Given the description of an element on the screen output the (x, y) to click on. 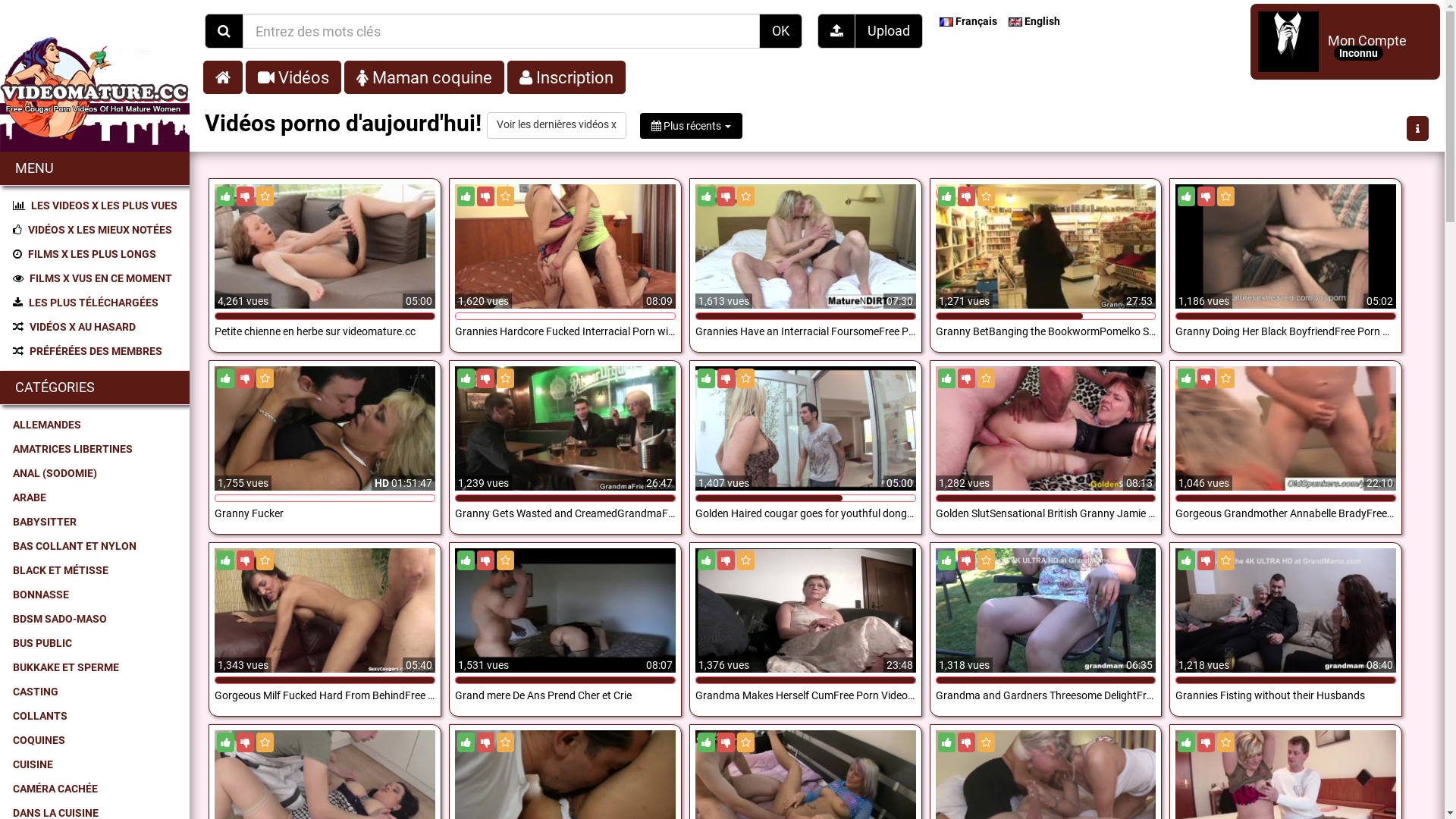
COLLANTS Element type: text (94, 715)
Granny Fucker
1,755 vues
HD 01:51:47 Element type: text (324, 463)
Voter contre Element type: hover (245, 560)
BABYSITTER Element type: text (94, 521)
En favori Element type: hover (745, 196)
En favori Element type: hover (264, 378)
Voter contre Element type: hover (966, 560)
Voter pour Element type: hover (225, 742)
BUS PUBLIC Element type: text (94, 642)
Voter pour Element type: hover (706, 196)
Voter pour Element type: hover (465, 742)
Voter contre Element type: hover (485, 378)
En favori Element type: hover (985, 196)
OK Element type: text (779, 30)
Upload Element type: text (888, 30)
Voter pour Element type: hover (1186, 378)
En favori Element type: hover (505, 196)
Voter contre Element type: hover (245, 378)
ANAL (SODOMIE) Element type: text (94, 473)
Voter contre Element type: hover (1205, 196)
En favori Element type: hover (1225, 742)
Voter contre Element type: hover (245, 742)
En favori Element type: hover (264, 742)
Voter contre Element type: hover (1205, 378)
Voter pour Element type: hover (706, 378)
Voter contre Element type: hover (725, 378)
LES VIDEOS X LES PLUS VUES Element type: text (94, 205)
En favori Element type: hover (264, 196)
En favori Element type: hover (1225, 196)
BAS COLLANT ET NYLON Element type: text (94, 545)
Voter contre Element type: hover (725, 742)
Voter pour Element type: hover (465, 196)
BONNASSE Element type: text (94, 594)
AMATRICES LIBERTINES Element type: text (94, 448)
Voter contre Element type: hover (485, 742)
En favori Element type: hover (985, 742)
Voter pour Element type: hover (946, 196)
BUKKAKE ET SPERME Element type: text (94, 667)
Voter pour Element type: hover (1186, 560)
En favori Element type: hover (745, 560)
Grannies Fisting without their Husbands
1,218 vues
08:40 Element type: text (1285, 645)
Inconnu Element type: text (1358, 52)
Petite chienne en herbe sur videomature.cc
4,261 vues
05:00 Element type: text (324, 281)
FILMS X LES PLUS LONGS Element type: text (94, 253)
Voter pour Element type: hover (225, 560)
Maman coquine Element type: text (424, 77)
Voter pour Element type: hover (465, 560)
Voter pour Element type: hover (946, 560)
En favori Element type: hover (985, 378)
Voter contre Element type: hover (725, 560)
BDSM SADO-MASO Element type: text (94, 618)
FILMS X VUS EN CE MOMENT Element type: text (94, 278)
Voter pour Element type: hover (465, 378)
En favori Element type: hover (1225, 378)
COQUINES Element type: text (94, 740)
En favori Element type: hover (745, 742)
Voter pour Element type: hover (225, 378)
Inscription Element type: text (566, 77)
Voter pour Element type: hover (706, 742)
En favori Element type: hover (985, 560)
Voter pour Element type: hover (225, 196)
En favori Element type: hover (745, 378)
ARABE Element type: text (94, 497)
Voter contre Element type: hover (1205, 560)
Voter contre Element type: hover (1205, 742)
Voter contre Element type: hover (966, 742)
ALLEMANDES Element type: text (94, 424)
En favori Element type: hover (264, 560)
Voter pour Element type: hover (946, 742)
En favori Element type: hover (1225, 560)
En favori Element type: hover (505, 742)
En favori Element type: hover (505, 560)
En favori Element type: hover (505, 378)
CASTING Element type: text (94, 691)
Voter pour Element type: hover (946, 378)
Voter contre Element type: hover (485, 560)
Grand mere De Ans Prend Cher et Crie
1,531 vues
08:07 Element type: text (565, 645)
Voter contre Element type: hover (725, 196)
Voter contre Element type: hover (245, 196)
CUISINE Element type: text (94, 764)
Voter contre Element type: hover (966, 196)
Voter pour Element type: hover (1186, 742)
Voter pour Element type: hover (1186, 196)
Voter pour Element type: hover (706, 560)
Voter contre Element type: hover (485, 196)
Voter contre Element type: hover (966, 378)
English Element type: text (1035, 21)
